Given the description of an element on the screen output the (x, y) to click on. 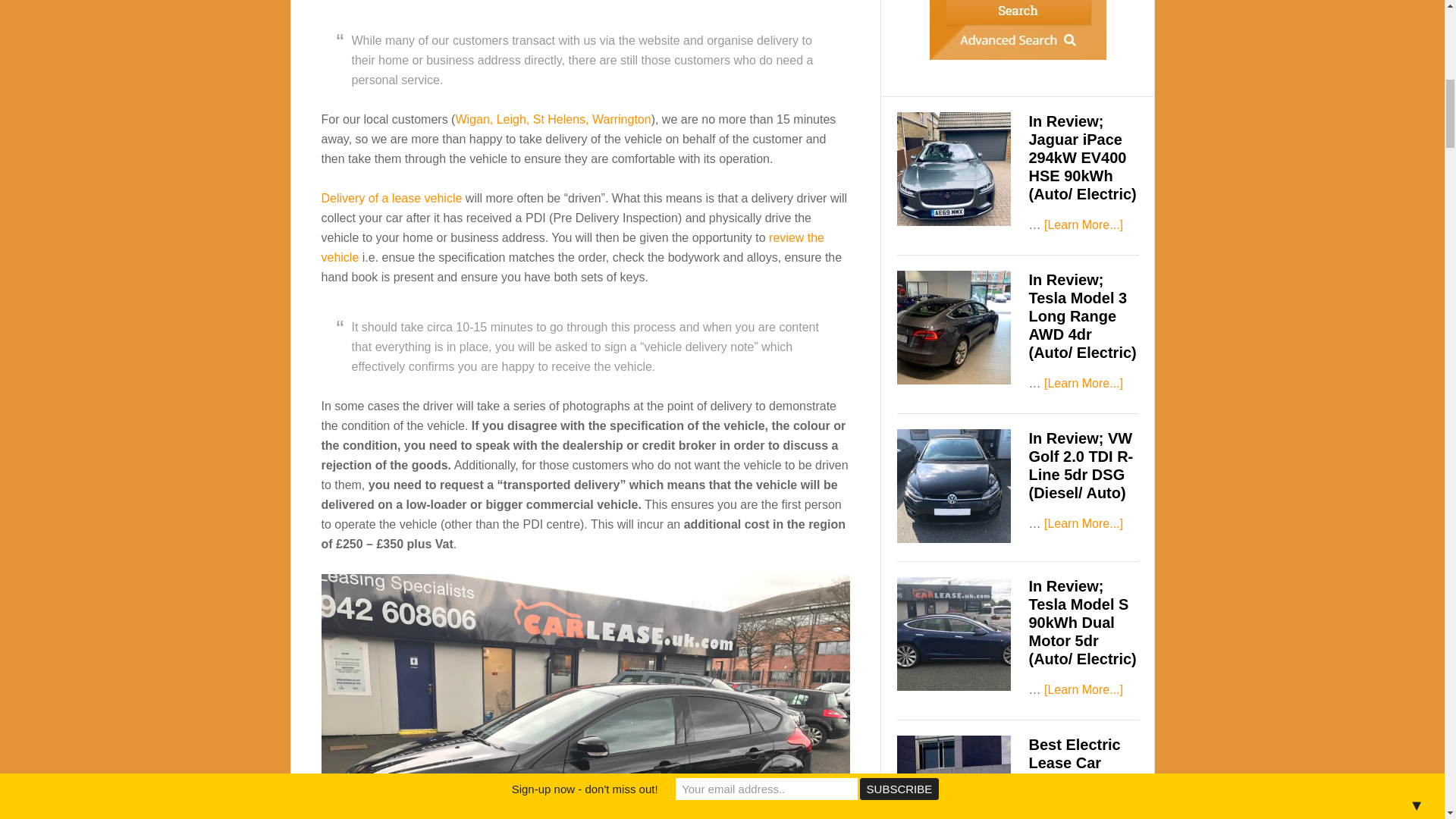
Wigan, Leigh, St Helens, Warrington (552, 119)
Delivery of a lease vehicle (392, 197)
review the vehicle (573, 246)
